Given the description of an element on the screen output the (x, y) to click on. 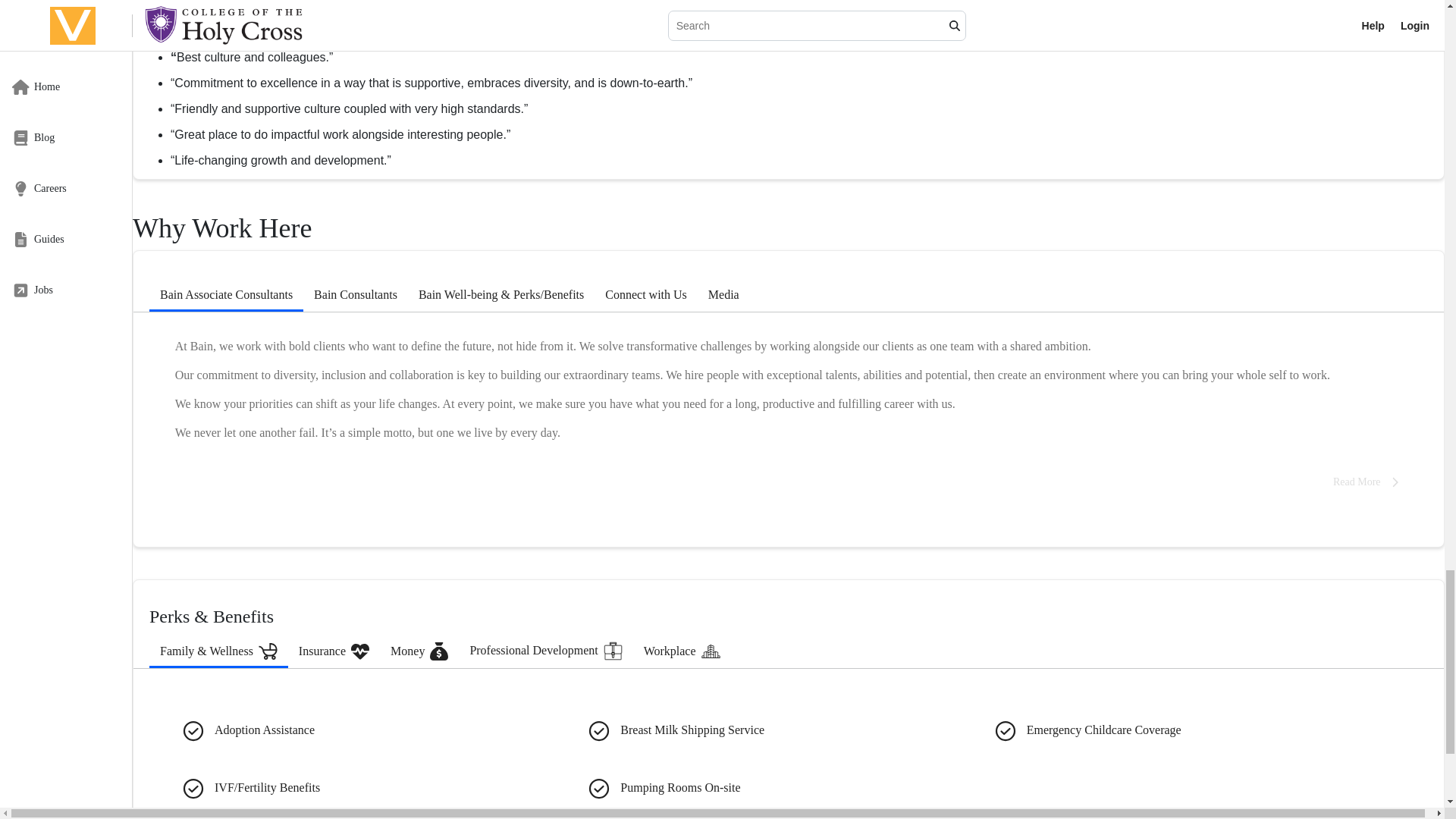
Career Development (480, 18)
Quality of Life (279, 18)
Compensation (373, 18)
Firm Culture (190, 18)
Community Engagement (611, 18)
